Given the description of an element on the screen output the (x, y) to click on. 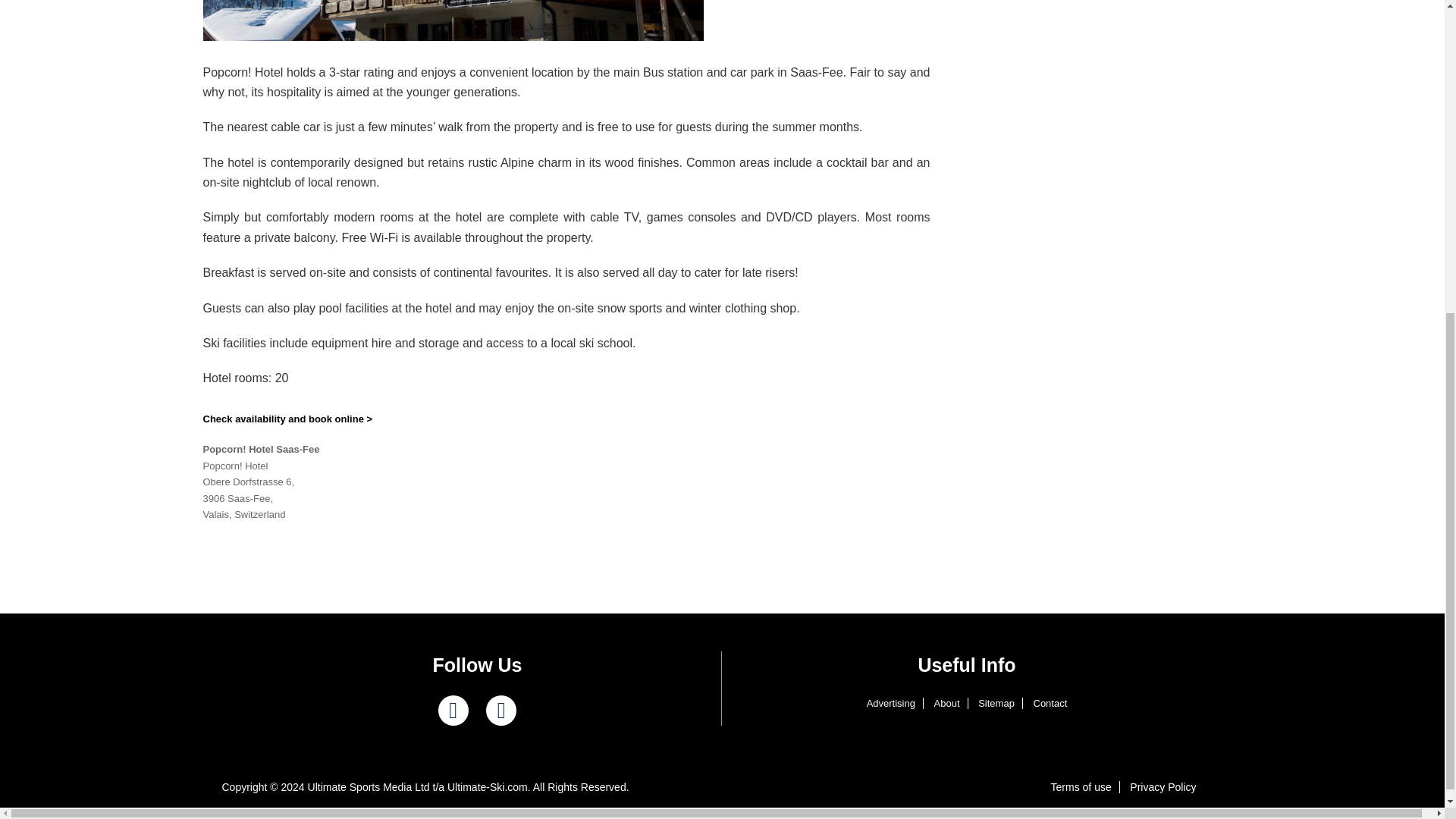
Advertising (891, 703)
Terms of use (1081, 787)
About (947, 703)
Sitemap (997, 703)
Contact (1049, 703)
Privacy Policy (1163, 787)
